Given the description of an element on the screen output the (x, y) to click on. 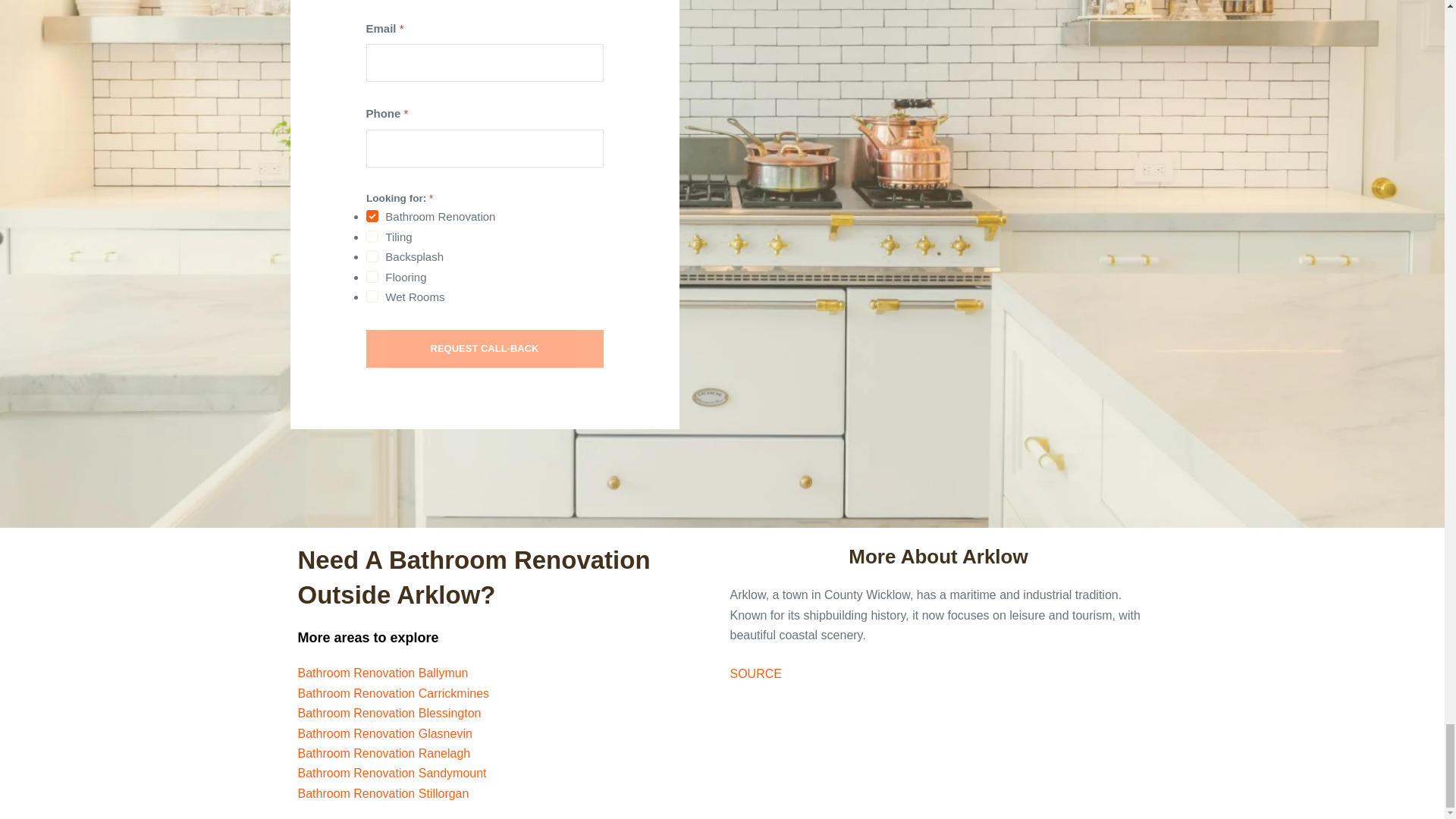
Bathroom Renovation Stillorgan (382, 793)
Bathroom Renovation Ballymun (382, 672)
REQUEST CALL-BACK (483, 348)
Bathroom Renovation Sandymount (391, 772)
Bathroom Renovation Glasnevin (384, 733)
SOURCE (754, 673)
Bathroom Renovation Carrickmines (393, 693)
Bathroom Renovation Blessington (388, 712)
Bathroom Renovation Ranelagh (383, 753)
